Given the description of an element on the screen output the (x, y) to click on. 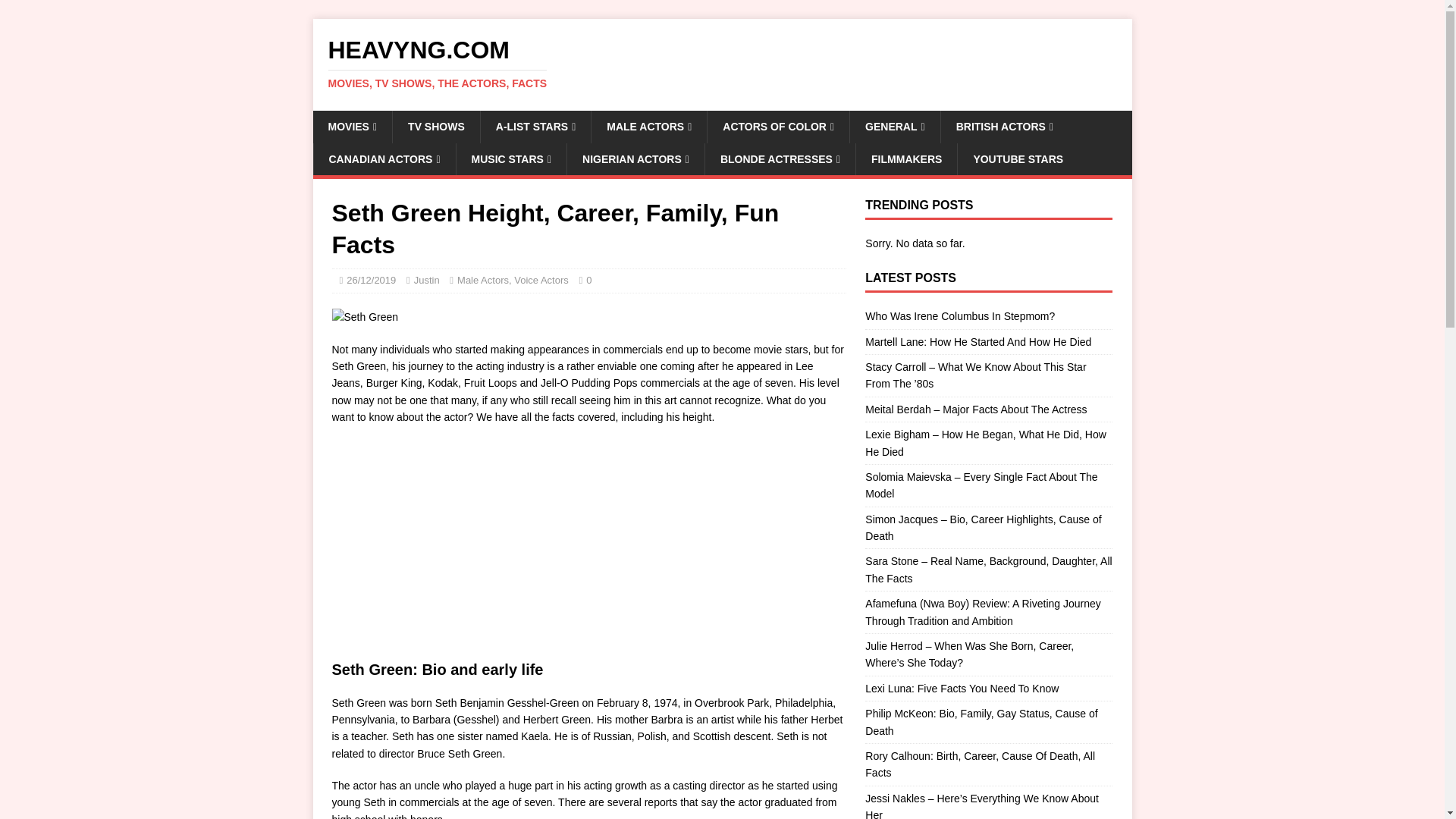
seth-green (721, 63)
Advertisement (364, 316)
Heavyng.com (588, 547)
